Given the description of an element on the screen output the (x, y) to click on. 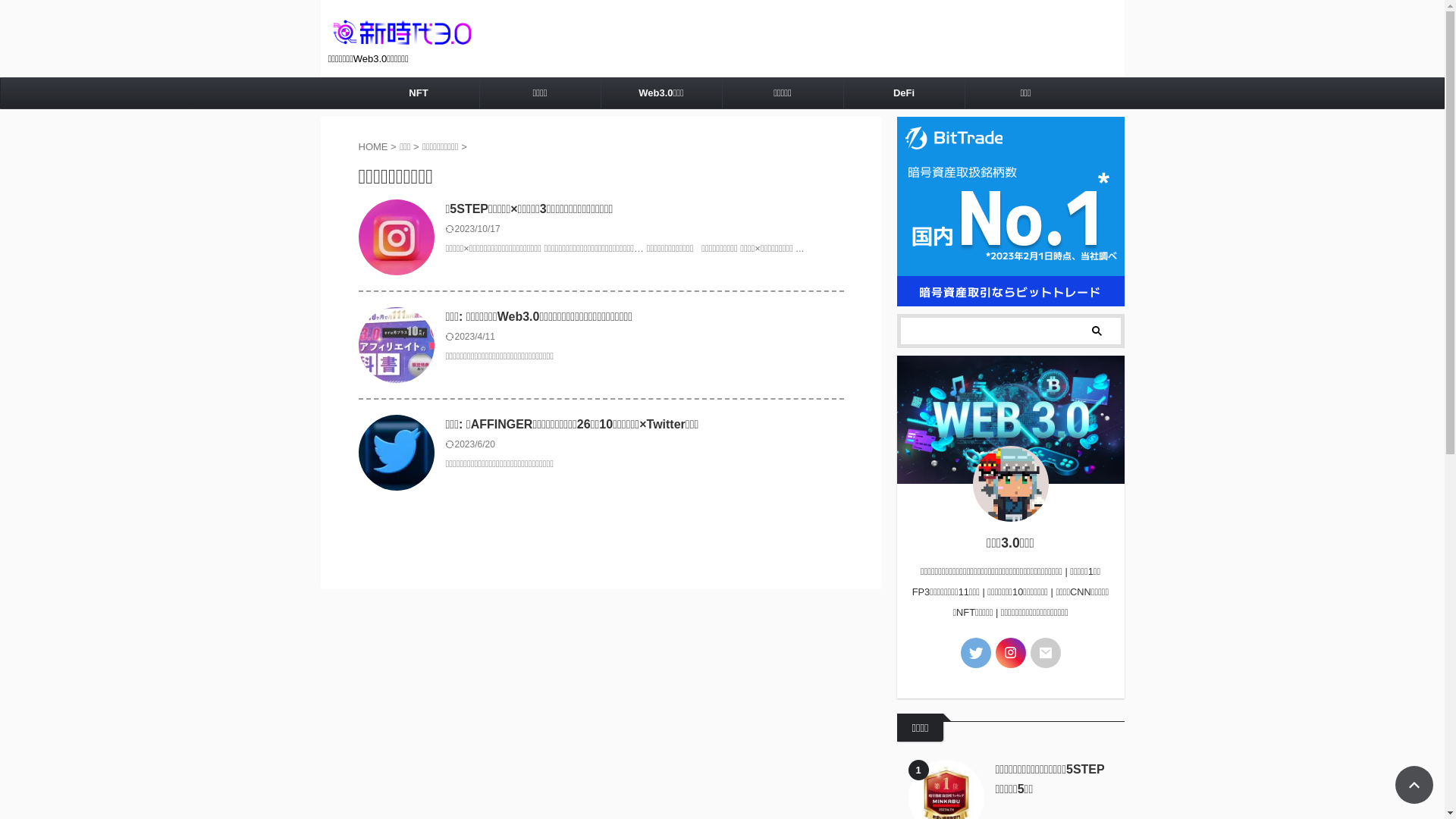
HOME Element type: text (372, 146)
DeFi Element type: text (903, 93)
NFT Element type: text (417, 93)
